Given the description of an element on the screen output the (x, y) to click on. 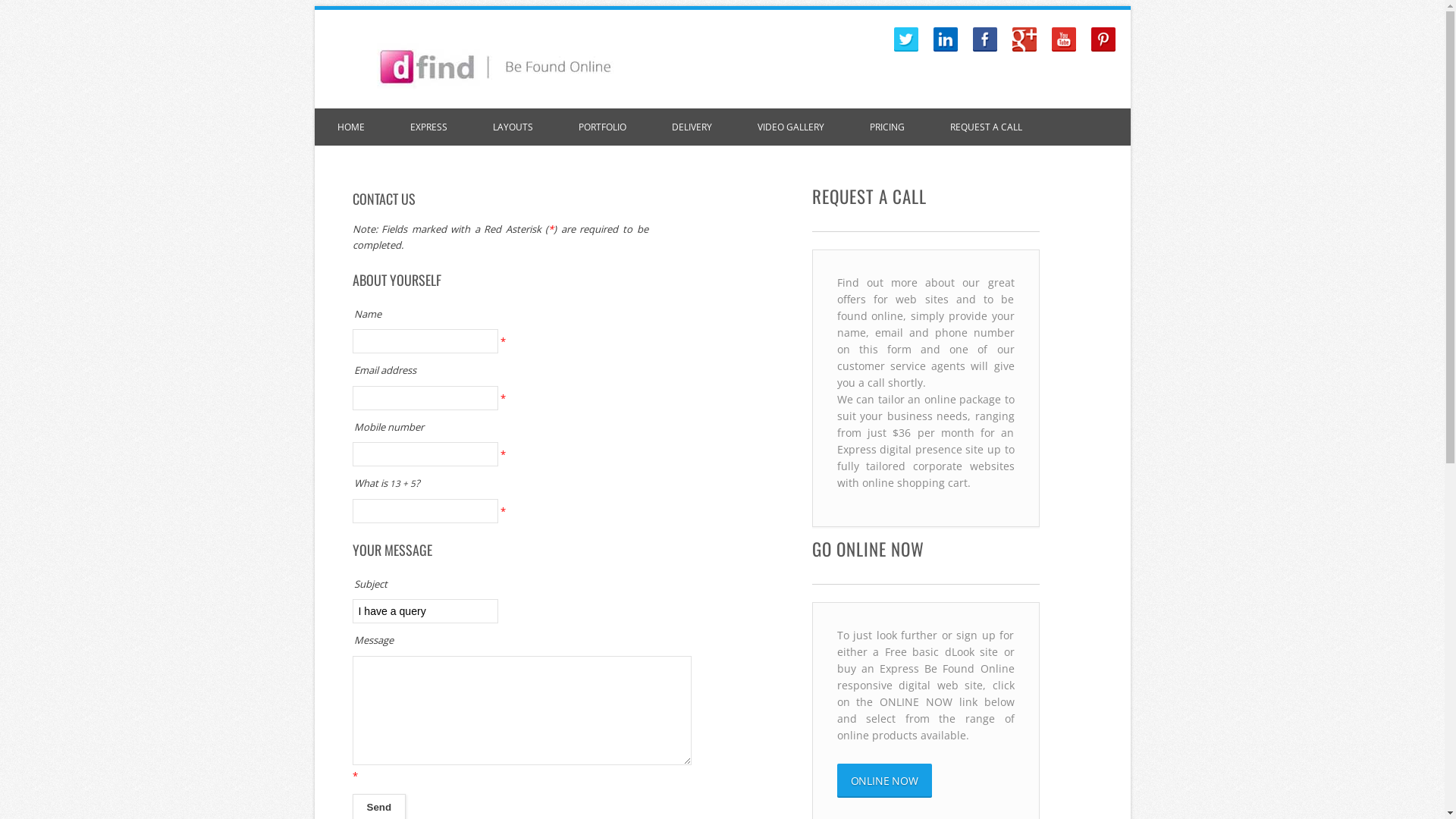
Pinterest Element type: text (1102, 39)
PRICING Element type: text (886, 126)
HOME Element type: text (349, 126)
Google+ Element type: text (1023, 39)
VIDEO GALLERY Element type: text (790, 126)
ONLINE NOW Element type: text (884, 780)
DELIVERY Element type: text (691, 126)
Twitter Element type: text (905, 39)
REQUEST A CALL Element type: text (985, 126)
Facebook Element type: text (984, 39)
LinkedIn Element type: text (944, 39)
YouTube Element type: text (1063, 39)
EXPRESS Element type: text (427, 126)
PORTFOLIO Element type: text (601, 126)
LAYOUTS Element type: text (512, 126)
